Given the description of an element on the screen output the (x, y) to click on. 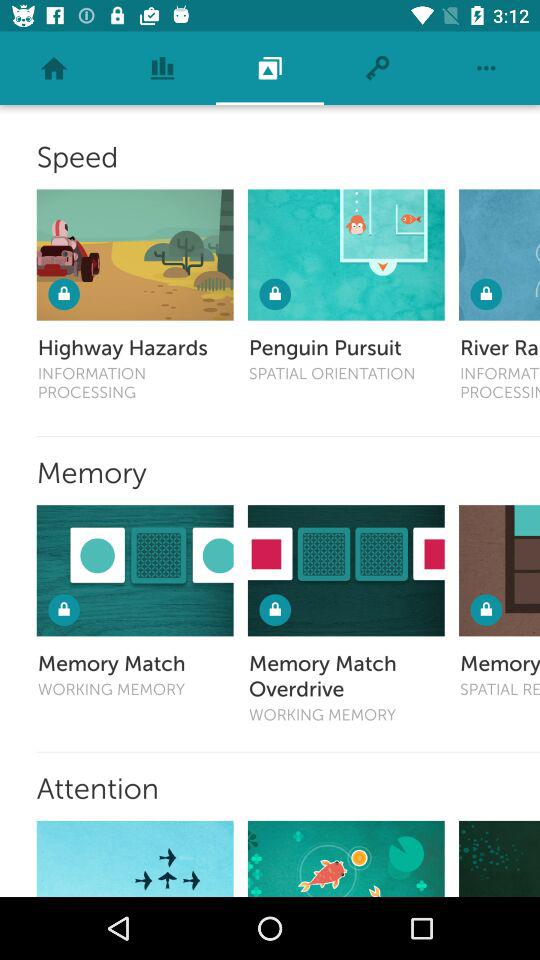
open memory match overdrive game (345, 570)
